Given the description of an element on the screen output the (x, y) to click on. 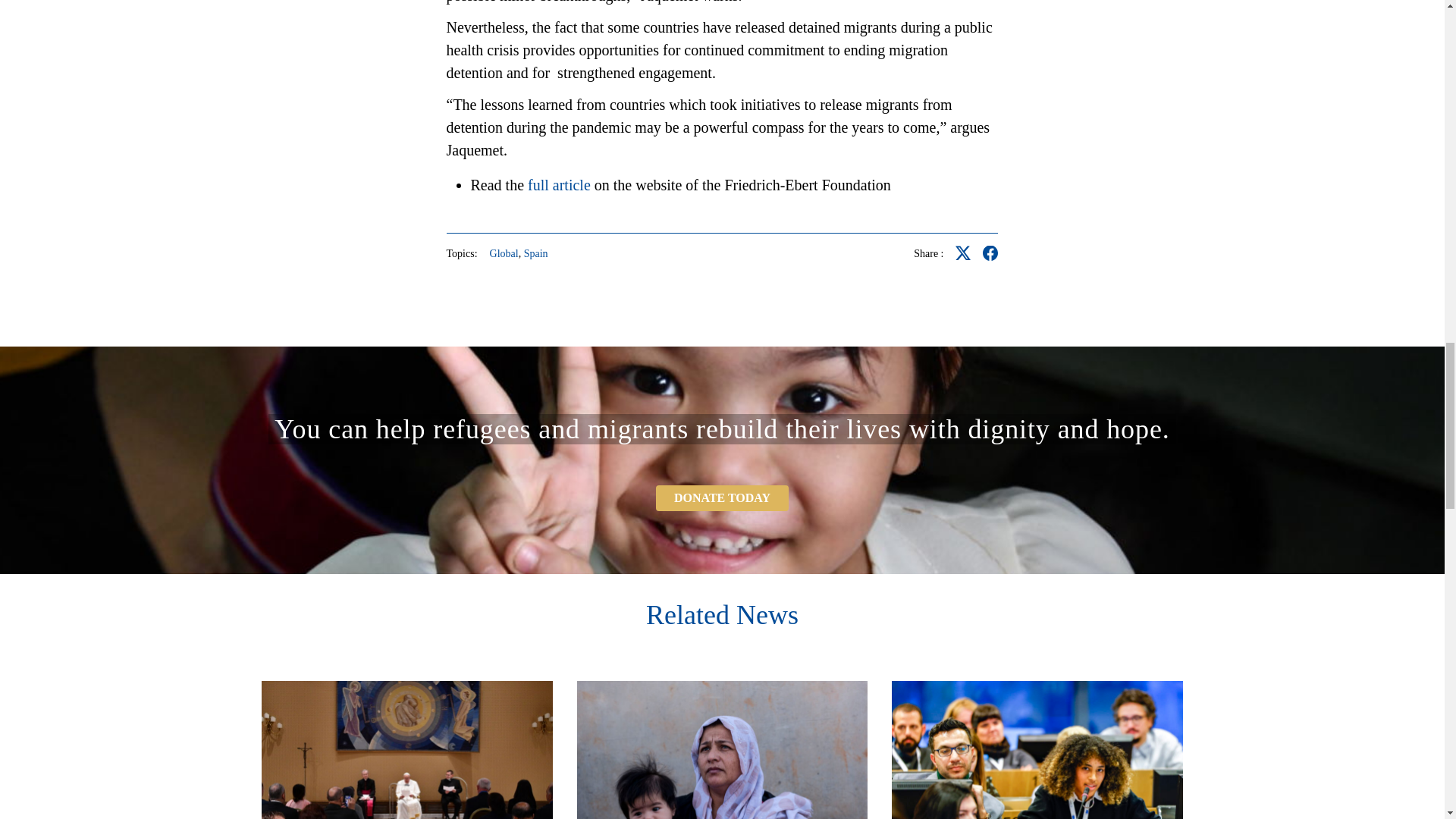
Make a Difference Today (722, 498)
full article (559, 185)
Global (503, 254)
Spain (536, 254)
